Given the description of an element on the screen output the (x, y) to click on. 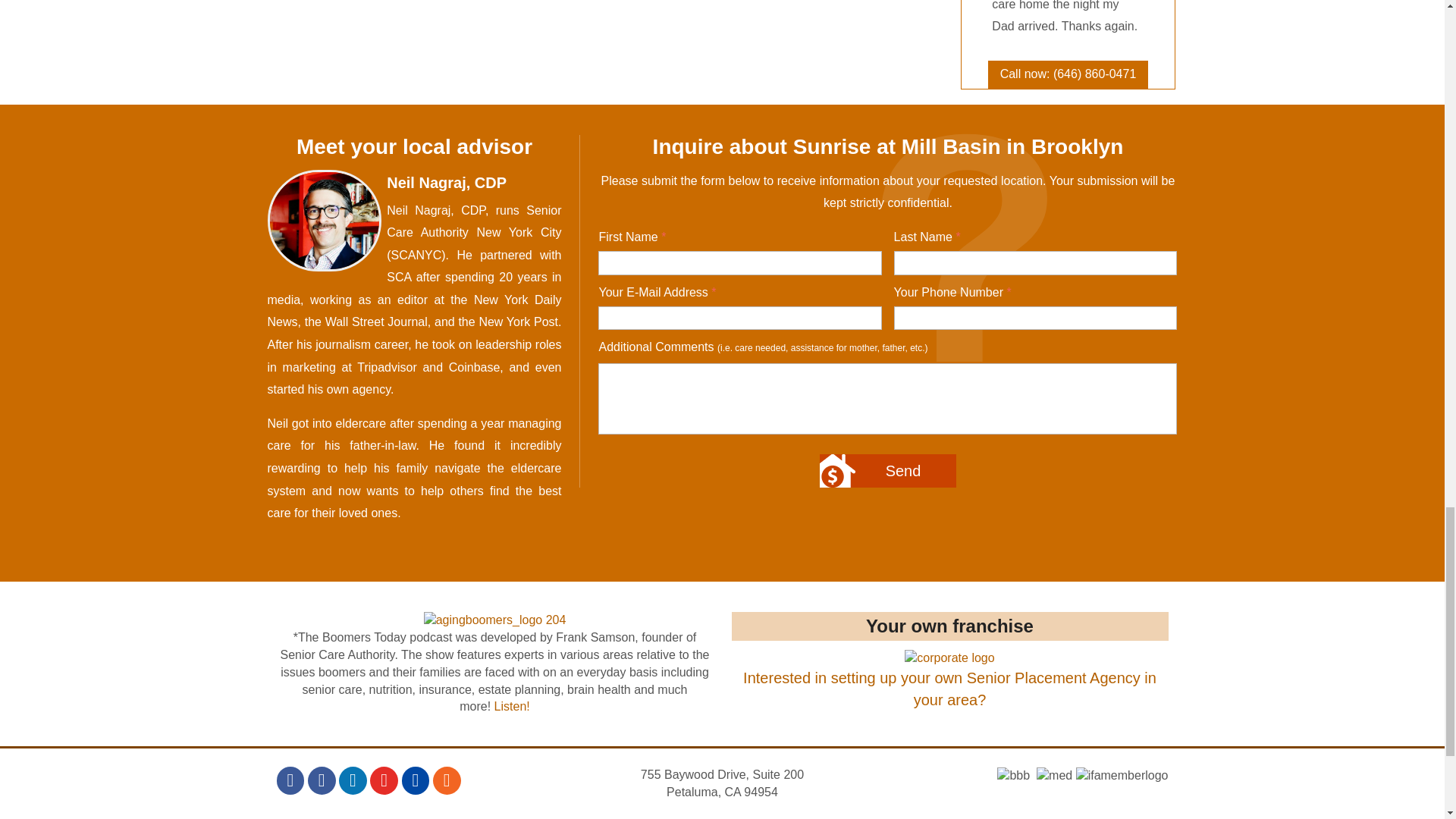
success (949, 679)
The Aging Boomers Podcasts (512, 706)
Send (887, 470)
The Aging Boomers Podcasts (494, 619)
